Given the description of an element on the screen output the (x, y) to click on. 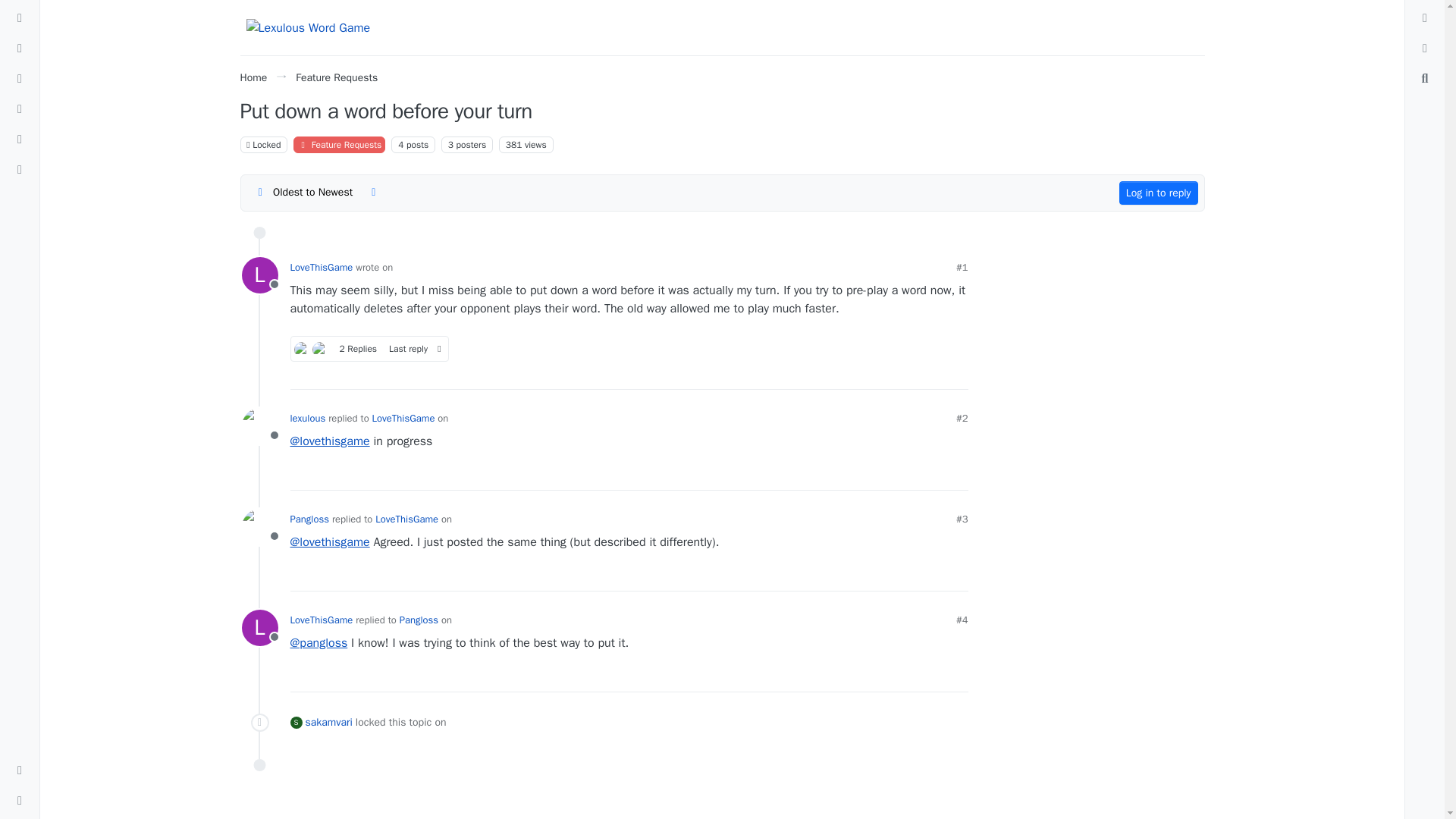
Expand (19, 800)
Recent (19, 48)
Categories (19, 17)
Home (253, 77)
LoveThisGame (259, 275)
Brand Logo (307, 27)
Tags (19, 78)
381 (513, 144)
Skins (19, 770)
Popular (19, 109)
